Given the description of an element on the screen output the (x, y) to click on. 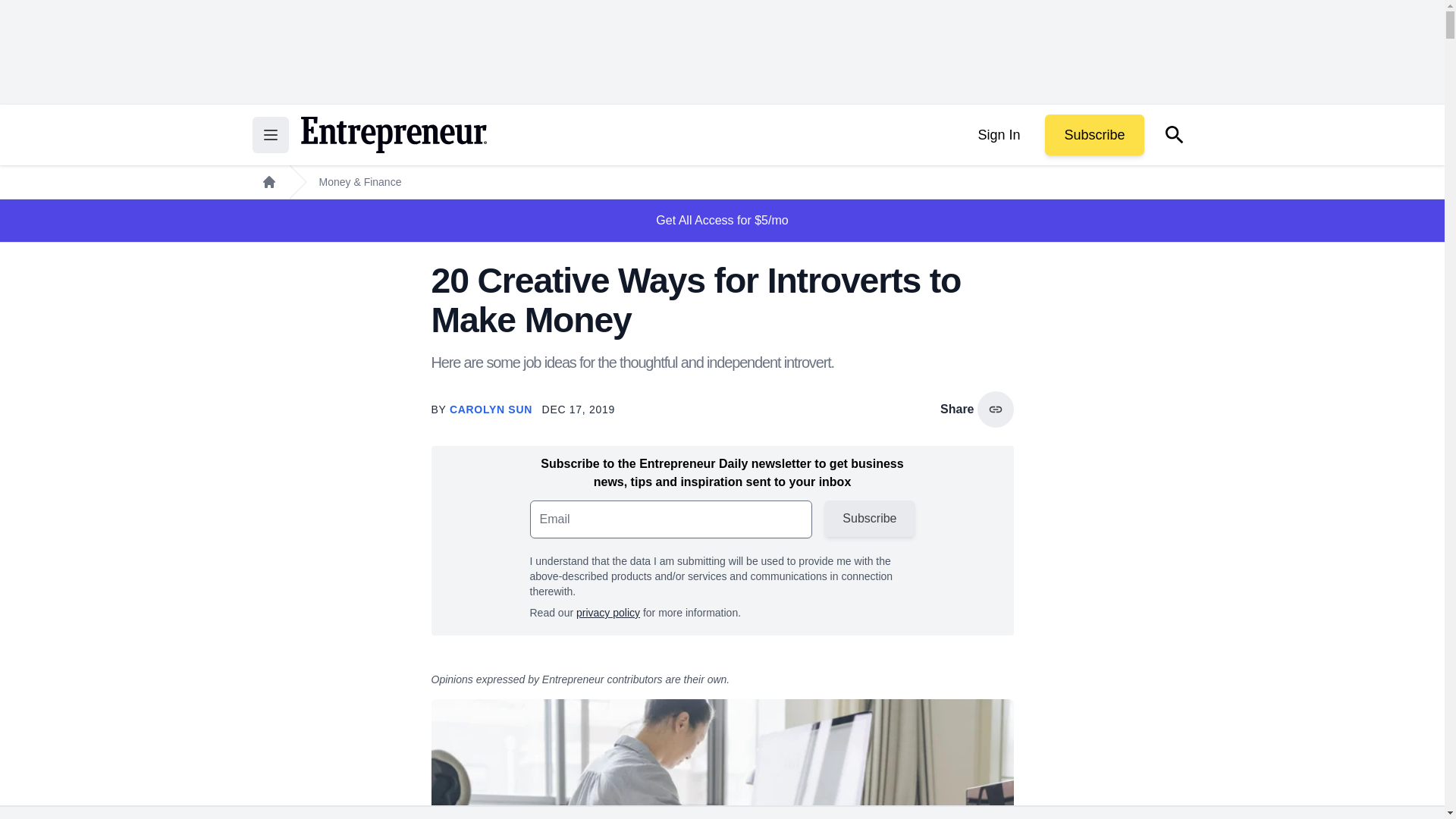
Sign In (998, 134)
copy (994, 409)
Return to the home page (392, 135)
Subscribe (1093, 134)
